Given the description of an element on the screen output the (x, y) to click on. 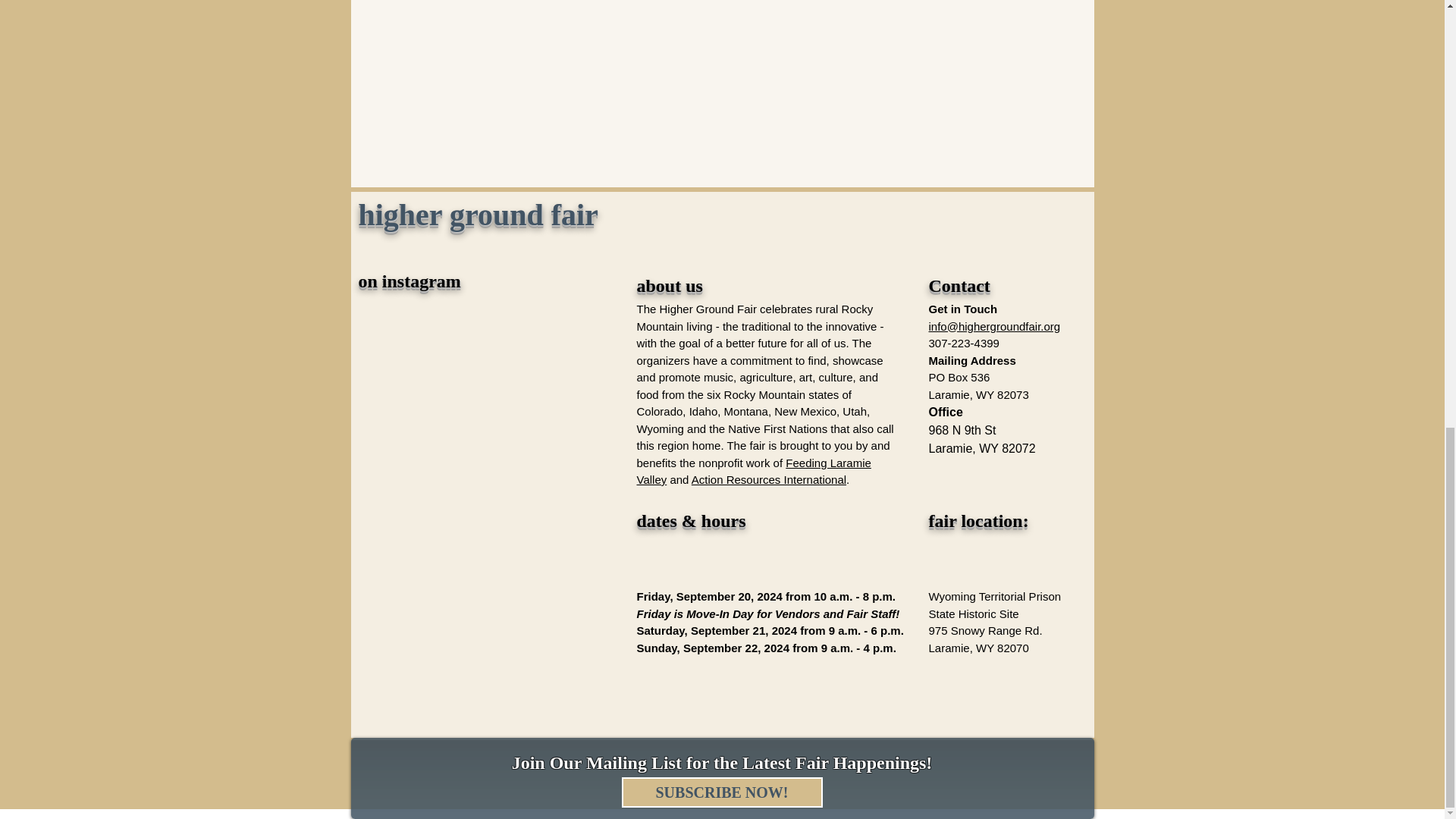
Feeding Laramie Valley (753, 470)
SUBSCRIBE NOW! (721, 792)
higher ground fair (477, 214)
Action Resources International (768, 479)
